Given the description of an element on the screen output the (x, y) to click on. 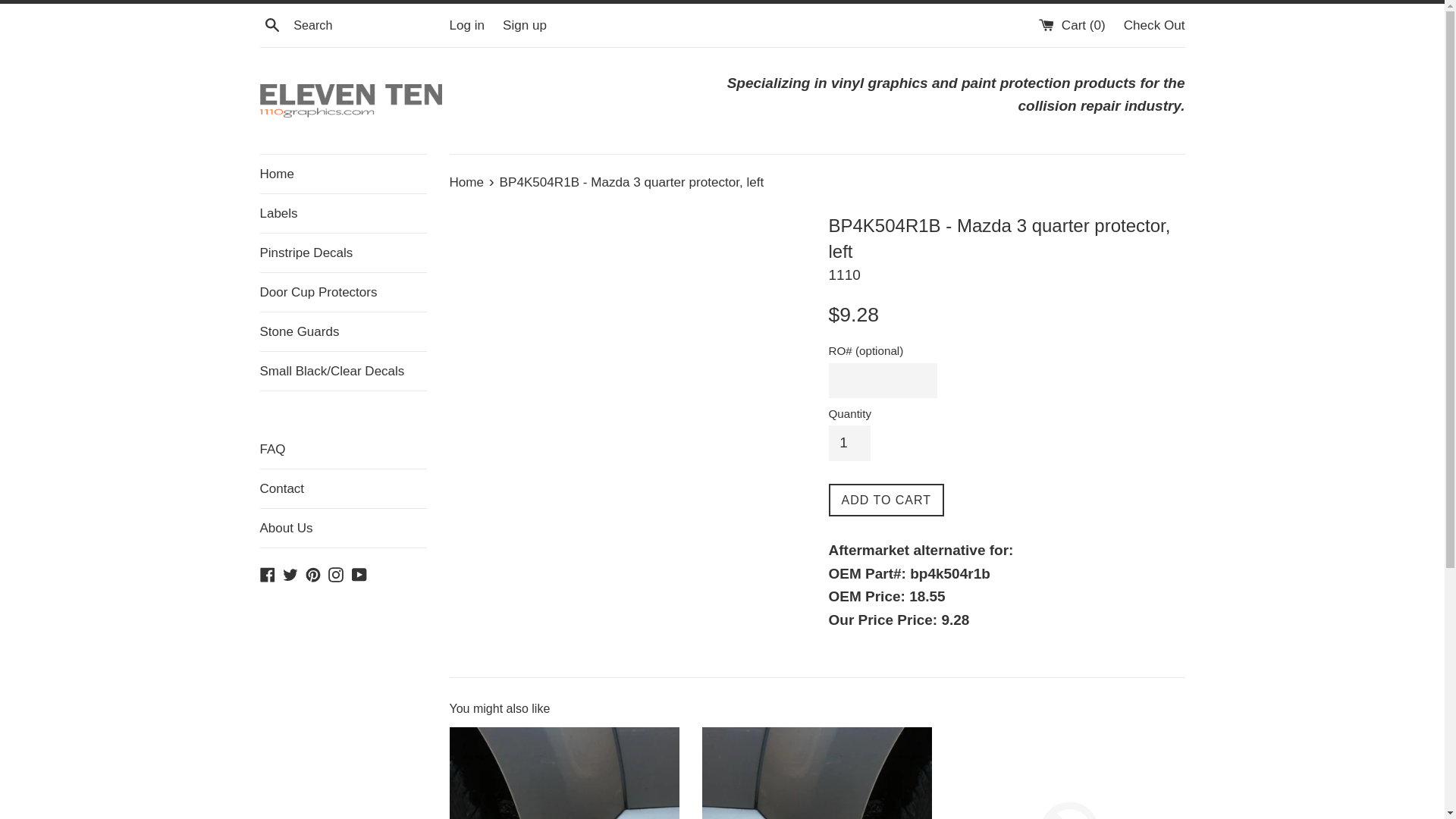
Stone Guards Element type: text (342, 331)
About Us Element type: text (342, 527)
Door Cup Protectors Element type: text (342, 292)
Home Element type: text (467, 182)
Pinstripe Decals Element type: text (342, 252)
Labels Element type: text (342, 213)
Twitter Element type: text (290, 573)
Check Out Element type: text (1154, 25)
Home Element type: text (342, 173)
ADD TO CART Element type: text (886, 500)
Small Black/Clear Decals Element type: text (342, 370)
Cart (0) Element type: text (1073, 25)
YouTube Element type: text (359, 573)
FAQ Element type: text (342, 429)
Pinterest Element type: text (312, 573)
Sign up Element type: text (524, 25)
Contact Element type: text (342, 488)
Instagram Element type: text (335, 573)
Log in Element type: text (466, 25)
Search Element type: text (271, 24)
Facebook Element type: text (266, 573)
